Given the description of an element on the screen output the (x, y) to click on. 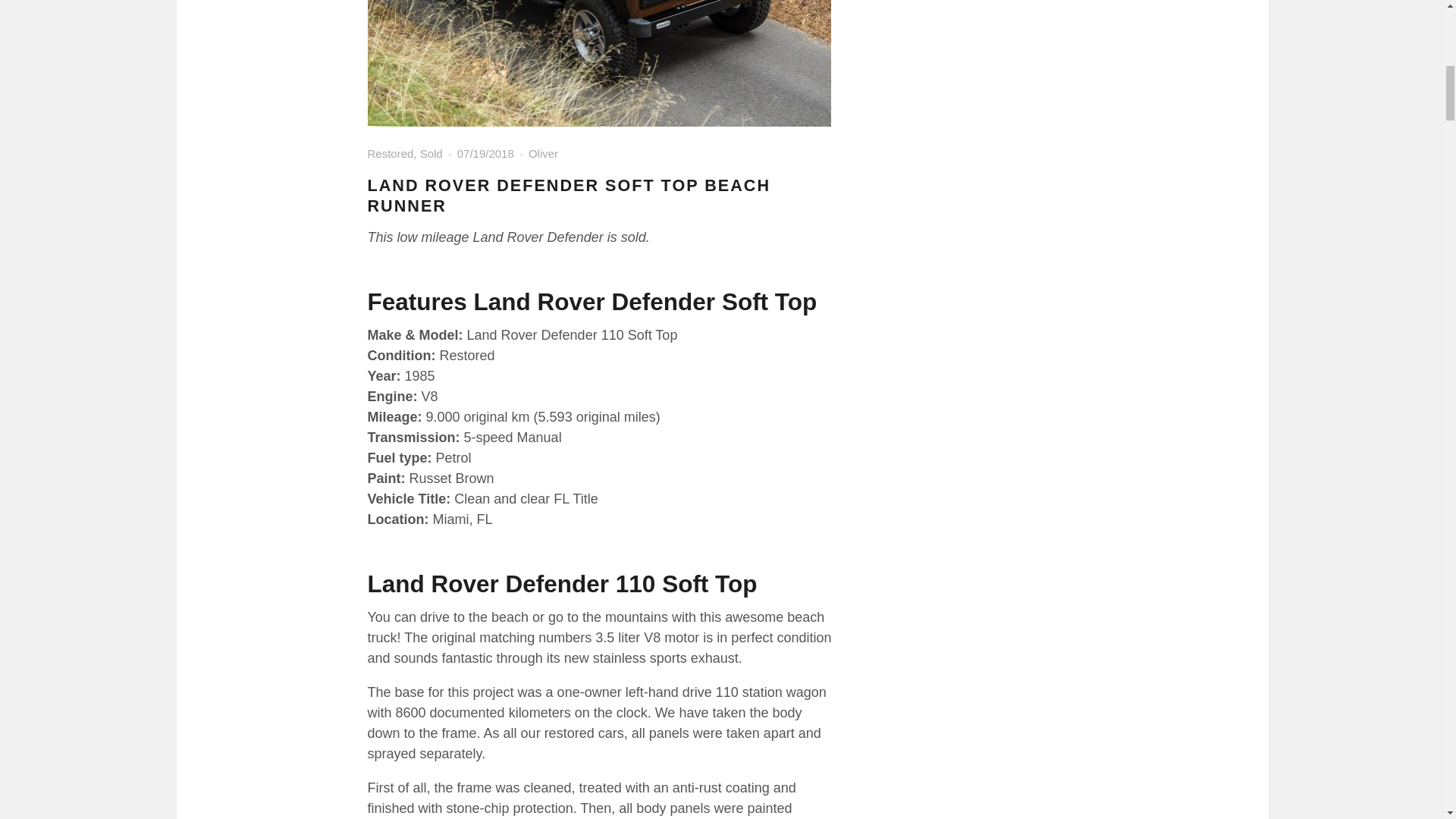
Oliver (542, 153)
Restored (389, 153)
LAND ROVER DEFENDER SOFT TOP BEACH RUNNER (568, 195)
Sold (431, 153)
